Given the description of an element on the screen output the (x, y) to click on. 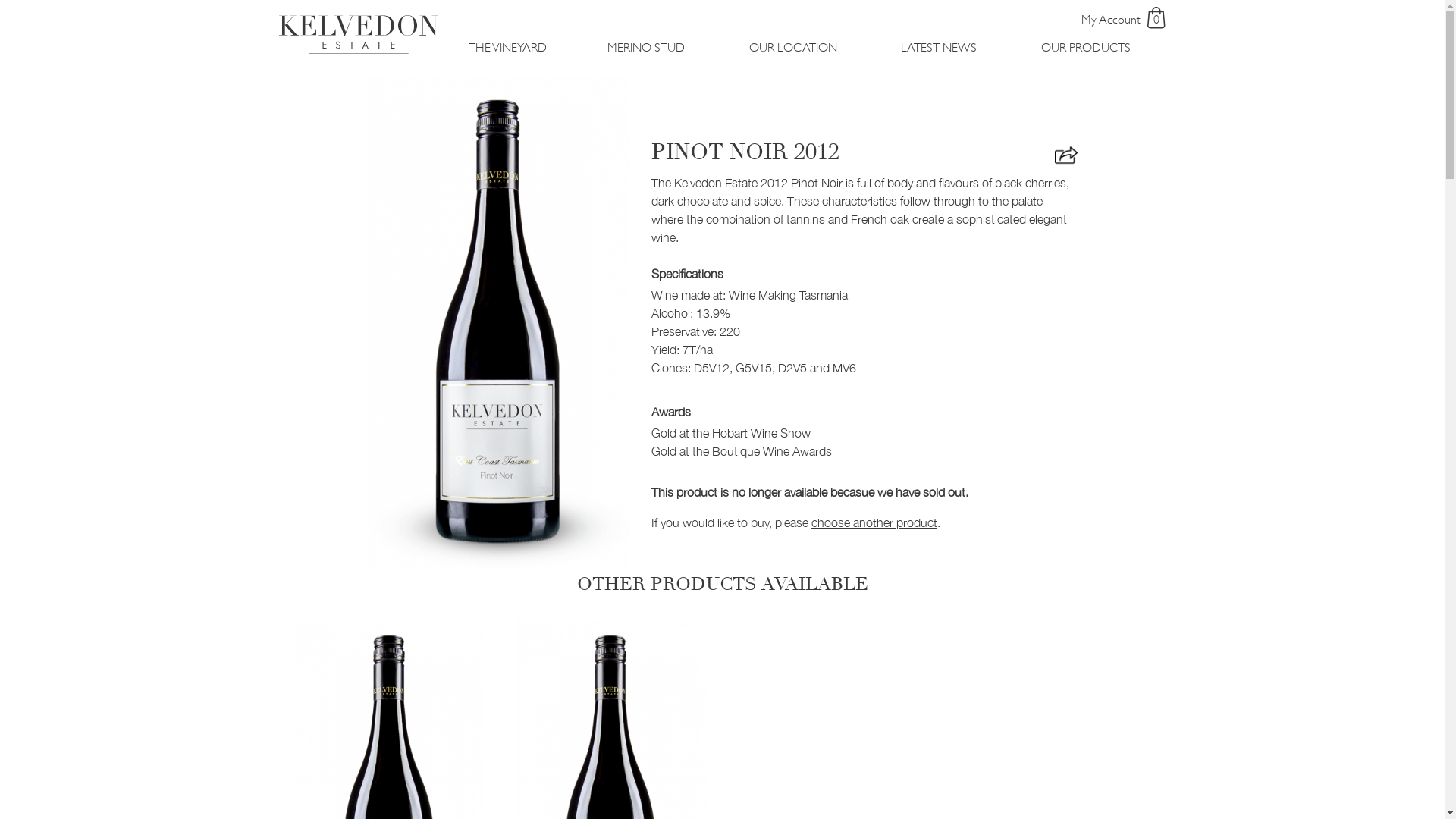
THE VINEYARD Element type: text (507, 47)
OUR PRODUCTS Element type: text (1085, 47)
LATEST NEWS Element type: text (938, 47)
Skip to main content Element type: text (0, 0)
choose another product Element type: text (874, 522)
OUR LOCATION Element type: text (793, 47)
MERINO STUD Element type: text (645, 47)
My Account Element type: text (1110, 19)
0 Element type: text (1155, 17)
